Given the description of an element on the screen output the (x, y) to click on. 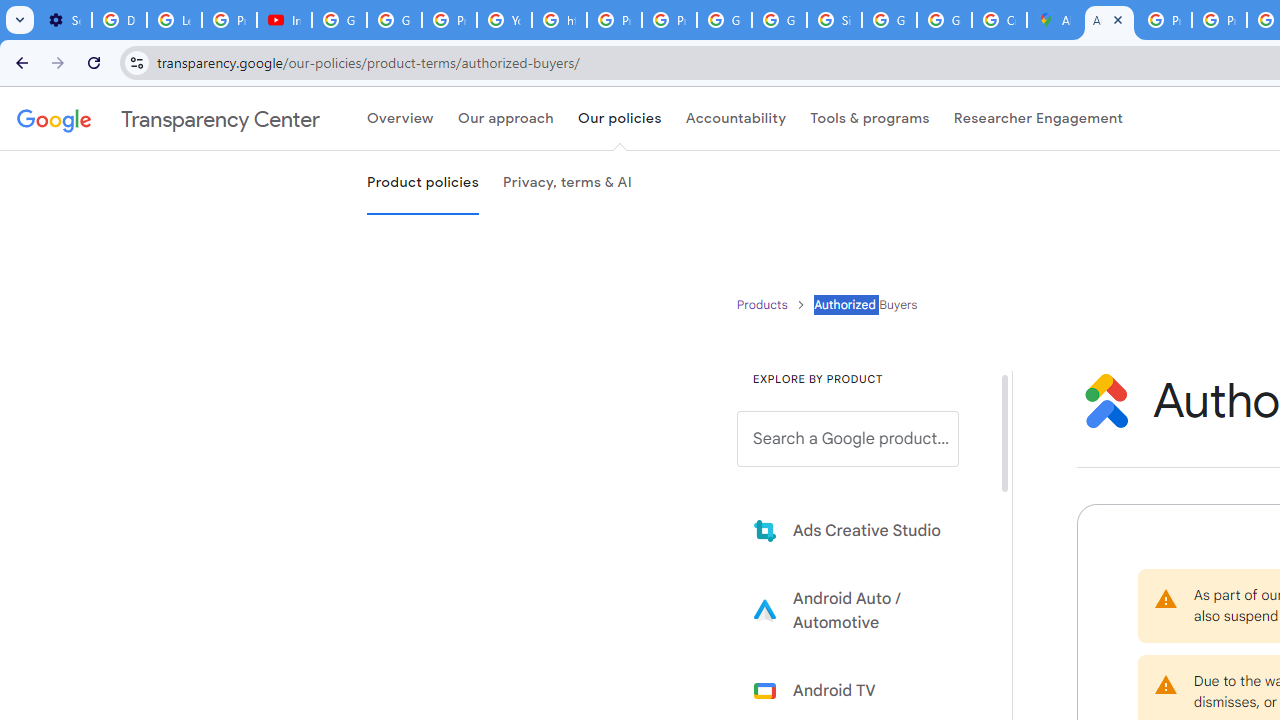
Delete photos & videos - Computer - Google Photos Help (119, 20)
Tools & programs (869, 119)
Search a Google product from below list. (847, 439)
Learn more about Ads Creative Studio (862, 530)
Sign in - Google Accounts (833, 20)
Create your Google Account (998, 20)
Learn more about Ads Creative Studio (862, 530)
